Given the description of an element on the screen output the (x, y) to click on. 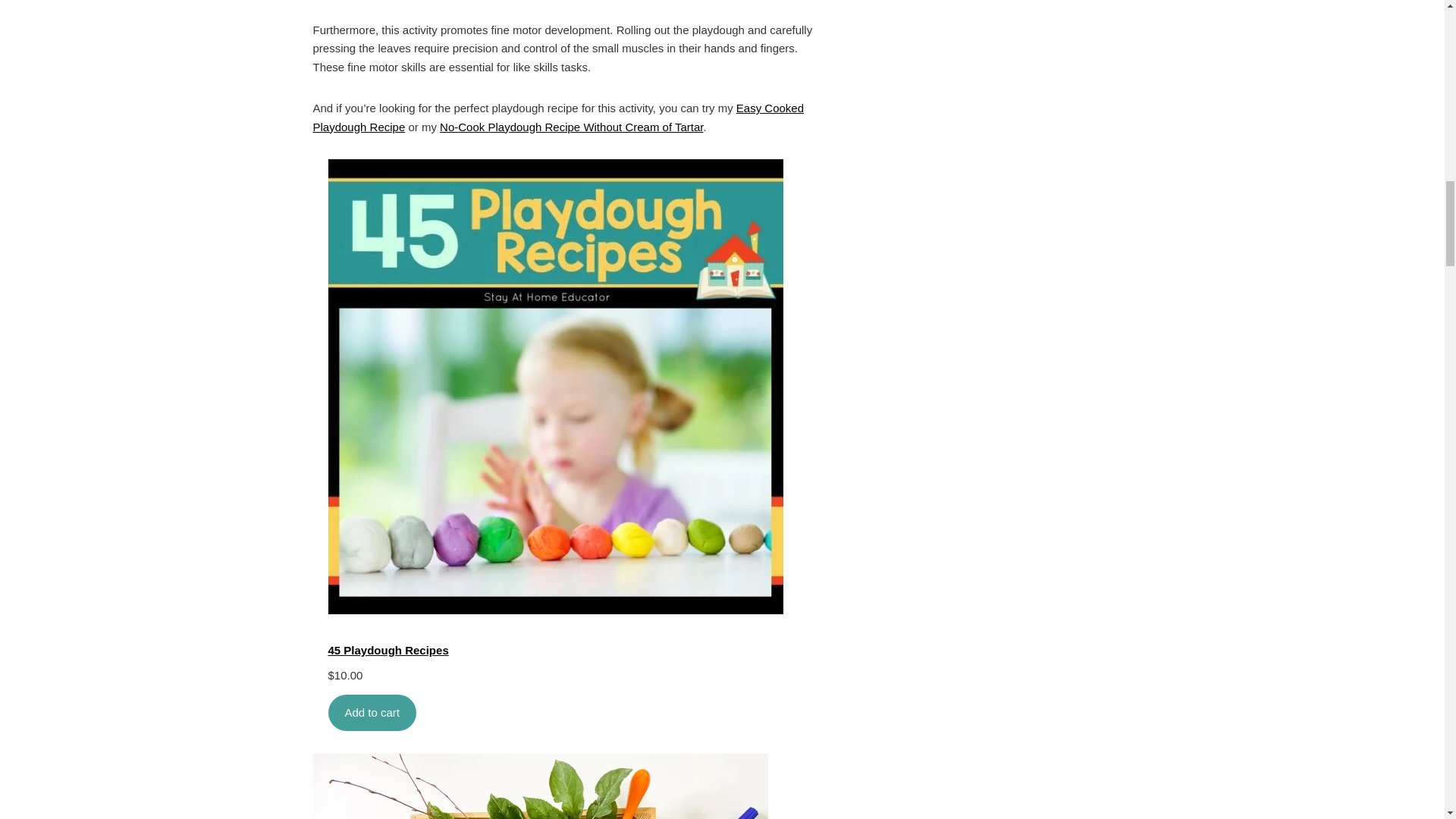
Add to cart (371, 712)
Easy Cooked Playdough Recipe (558, 116)
No-Cook Playdough Recipe Without Cream of Tartar (571, 126)
